Given the description of an element on the screen output the (x, y) to click on. 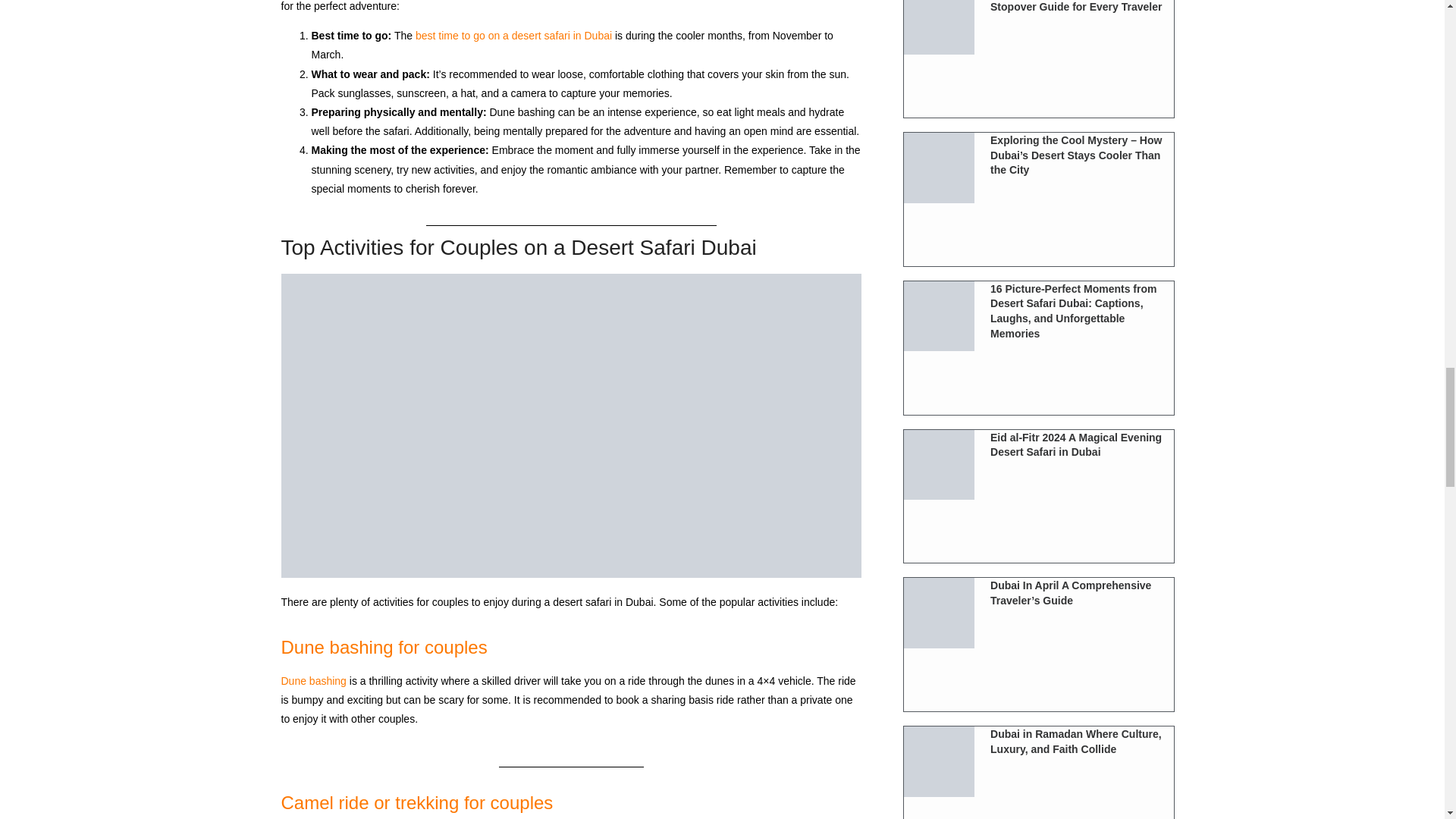
Dune bashing (313, 680)
Camel ride or trekking for couples (417, 802)
Dune bashing for couples (383, 647)
best time to go on a desert safari in Dubai (512, 35)
